Given the description of an element on the screen output the (x, y) to click on. 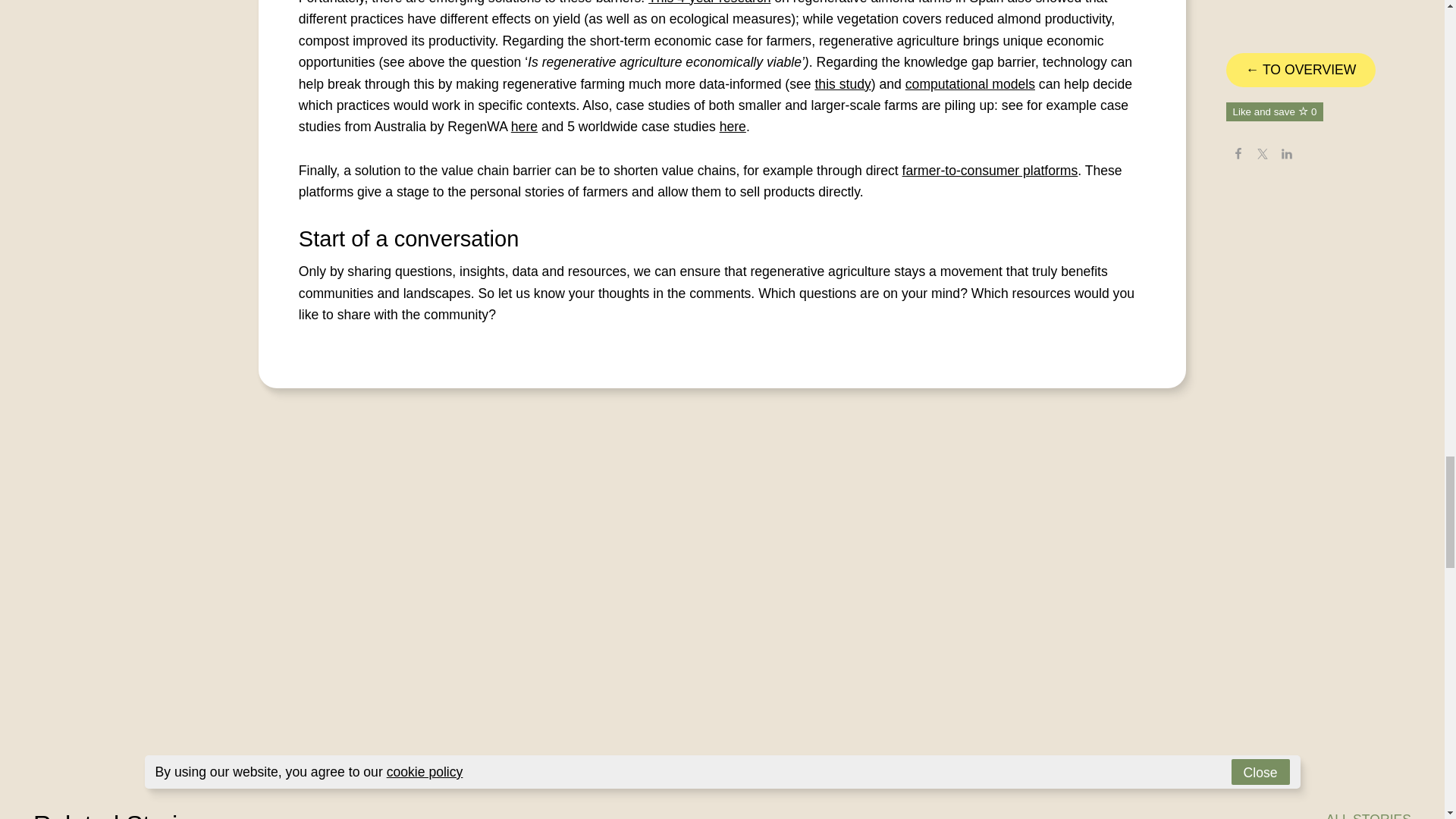
here (524, 126)
This 4-year research (708, 2)
here (732, 126)
computational models (970, 83)
this study (841, 83)
